Given the description of an element on the screen output the (x, y) to click on. 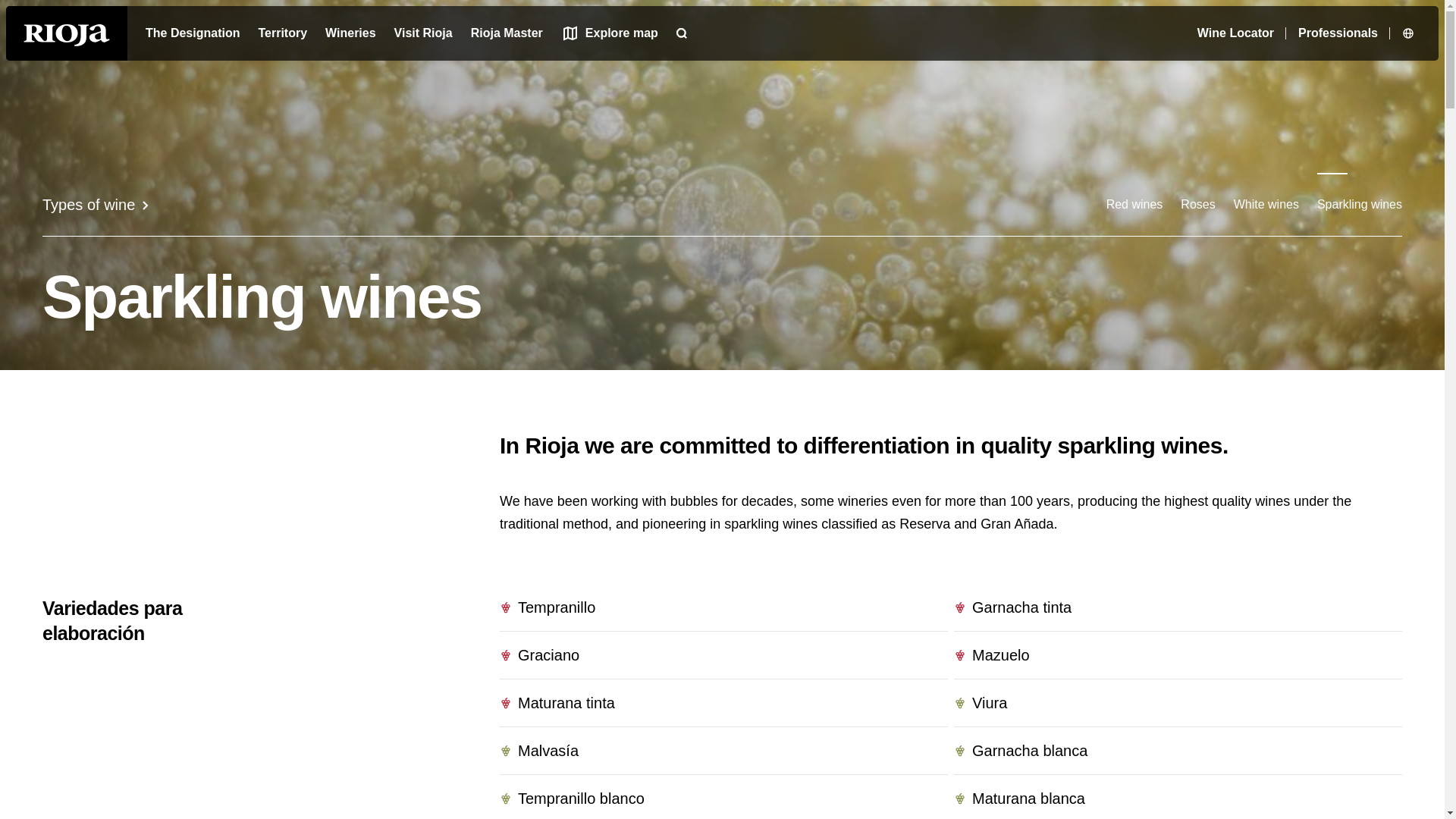
Wineries (349, 32)
The Designation (192, 32)
Visit Rioja (423, 32)
Open lang switcher (1411, 33)
Territory (282, 32)
